Given the description of an element on the screen output the (x, y) to click on. 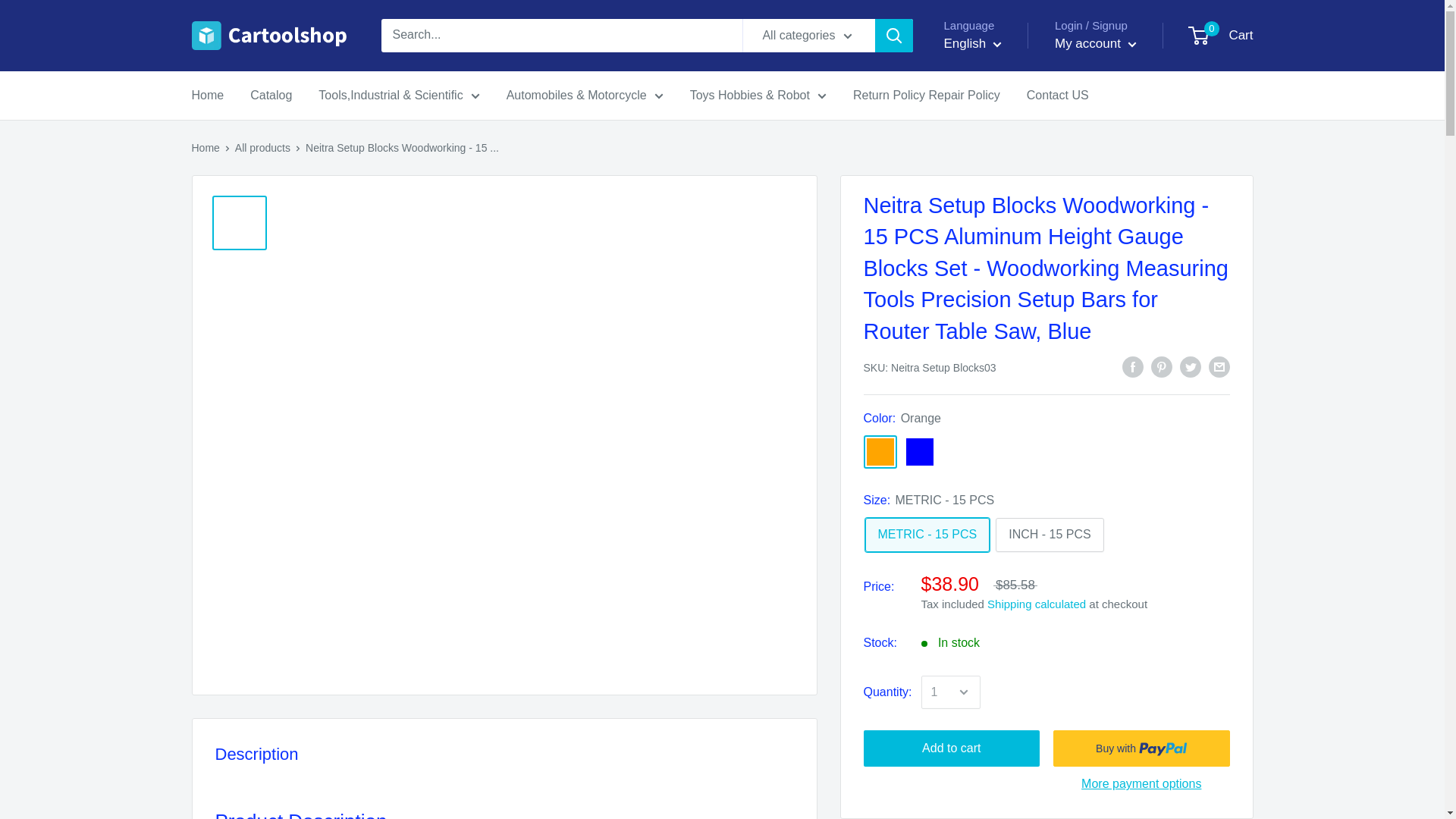
METRIC - 15 PCS (927, 534)
Blue (919, 452)
Orange (879, 452)
INCH - 15 PCS (1049, 534)
